Given the description of an element on the screen output the (x, y) to click on. 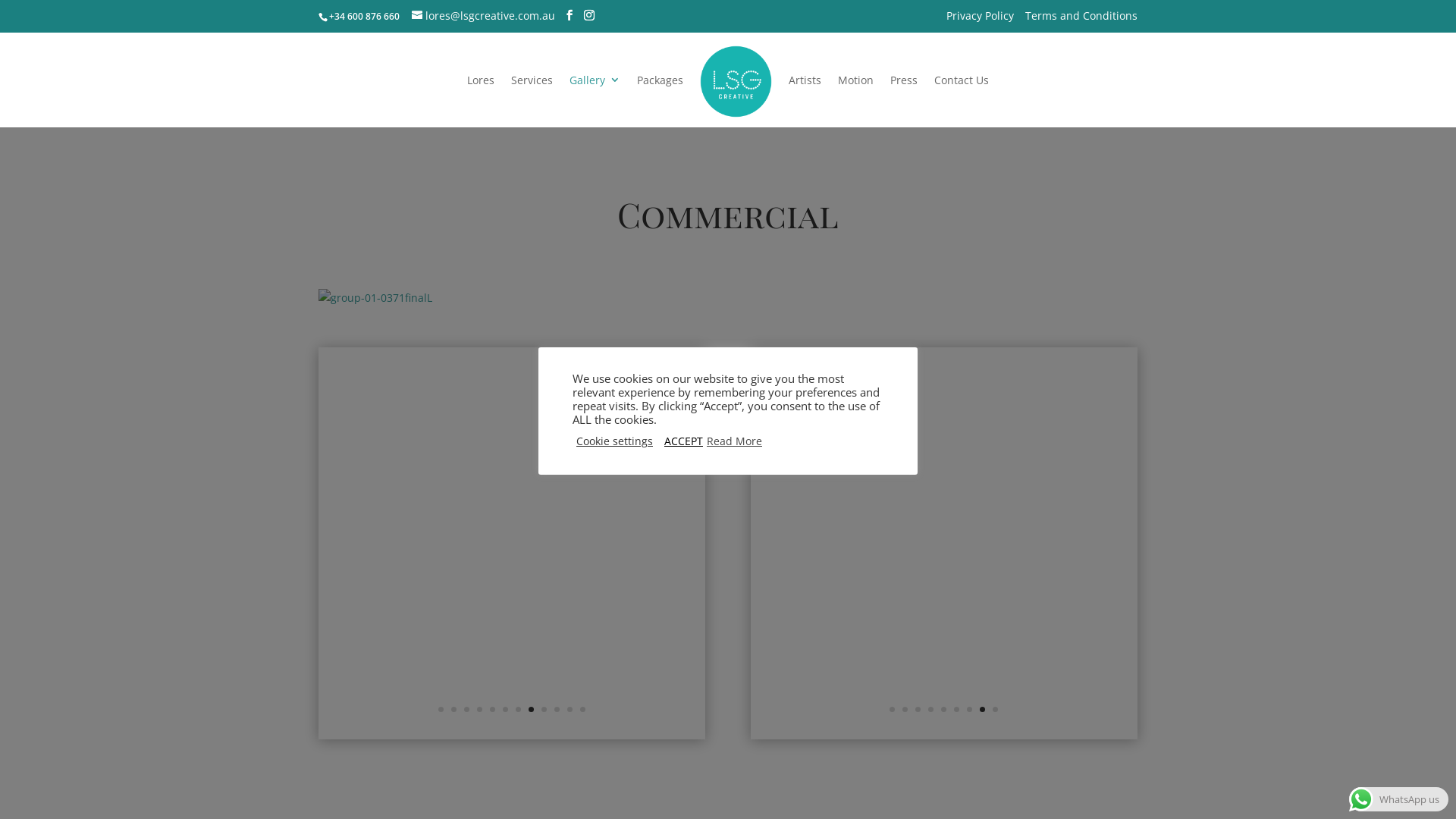
Services Element type: text (531, 100)
FudgeHEADPAINTPOSTER Element type: hover (511, 730)
4 Element type: text (479, 709)
9 Element type: text (543, 709)
Motion Element type: text (855, 100)
5 Element type: text (492, 709)
ACCEPT Element type: text (683, 441)
12 Element type: text (582, 709)
7 Element type: text (969, 709)
6 Element type: text (956, 709)
8 Element type: text (982, 709)
Pavement5REDROCKPOSTER Element type: hover (943, 730)
1 Element type: text (891, 709)
lores@lsgcreative.com.au Element type: text (483, 15)
Artists Element type: text (804, 100)
4 Element type: text (930, 709)
8 Element type: text (530, 709)
Cookie settings Element type: text (614, 441)
2 Element type: text (904, 709)
Privacy Policy Element type: text (979, 19)
11 Element type: text (569, 709)
7 Element type: text (517, 709)
1 Element type: text (440, 709)
9 Element type: text (994, 709)
Packages Element type: text (660, 100)
Read More Element type: text (734, 441)
10 Element type: text (556, 709)
Terms and Conditions Element type: text (1081, 19)
Gallery Element type: text (594, 100)
5 Element type: text (943, 709)
6 Element type: text (505, 709)
Press Element type: text (903, 100)
3 Element type: text (466, 709)
Lores Element type: text (480, 100)
3 Element type: text (917, 709)
group-01-0371finalL Element type: hover (375, 296)
2 Element type: text (453, 709)
Contact Us Element type: text (961, 100)
